Given the description of an element on the screen output the (x, y) to click on. 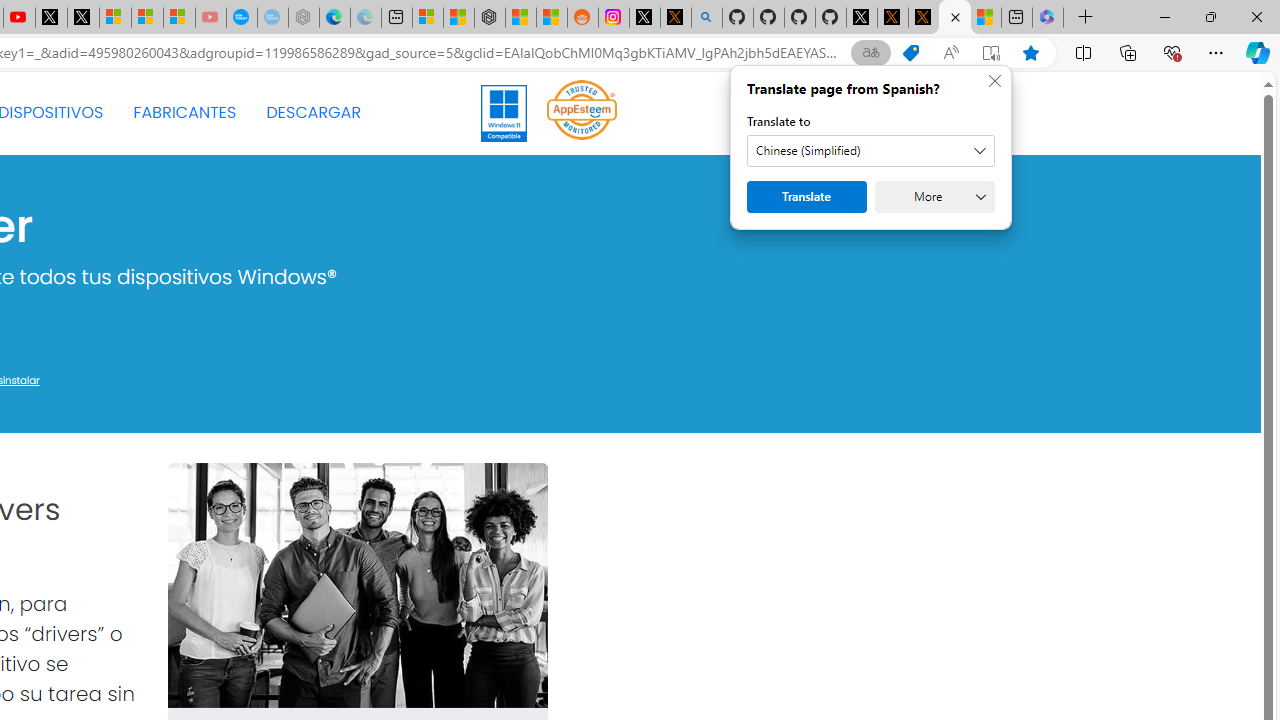
Translate (806, 196)
Login | Microsoft 365 (1048, 17)
team (356, 585)
github - Search (706, 17)
Enter Immersive Reader (F9) (991, 53)
Shanghai, China Weather trends | Microsoft Weather (551, 17)
Gloom - YouTube - Sleeping (210, 17)
Descarga Driver Updater (954, 17)
Shopping in Microsoft Edge (910, 53)
